Given the description of an element on the screen output the (x, y) to click on. 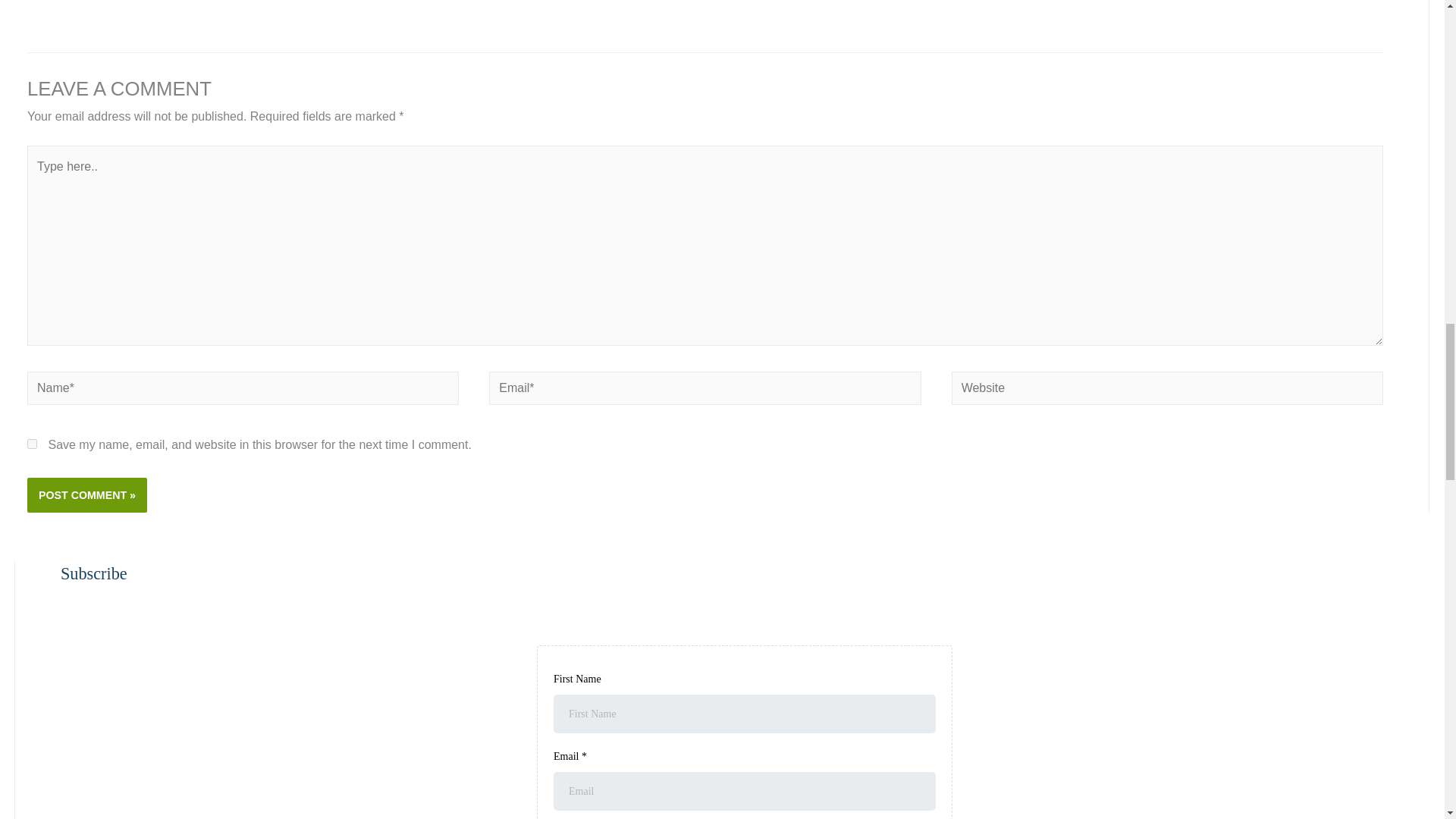
yes (32, 443)
